Given the description of an element on the screen output the (x, y) to click on. 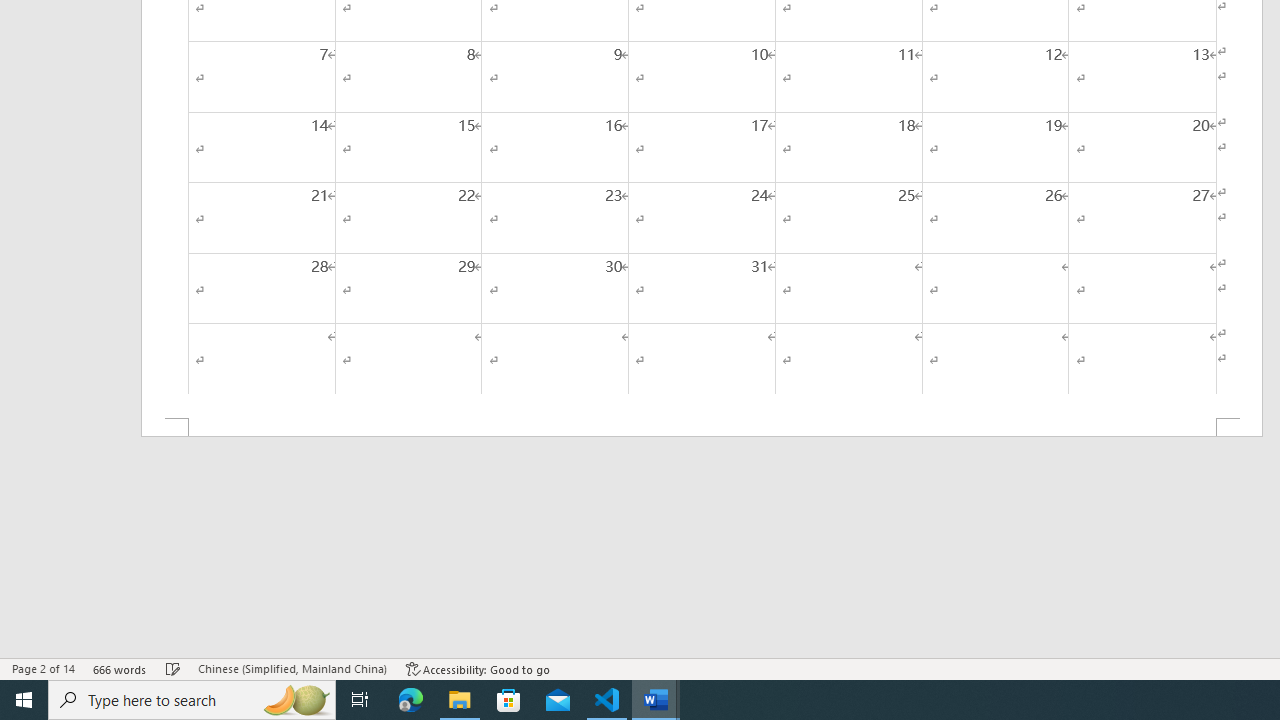
Footer -Section 1- (701, 427)
Language Chinese (Simplified, Mainland China) (292, 668)
Accessibility Checker Accessibility: Good to go (478, 668)
Spelling and Grammar Check Checking (173, 668)
Type here to search (191, 699)
Page Number Page 2 of 14 (43, 668)
Word - 2 running windows (656, 699)
Microsoft Store (509, 699)
Search highlights icon opens search home window (295, 699)
File Explorer - 1 running window (460, 699)
Word Count 666 words (119, 668)
Visual Studio Code - 1 running window (607, 699)
Microsoft Edge (411, 699)
